Given the description of an element on the screen output the (x, y) to click on. 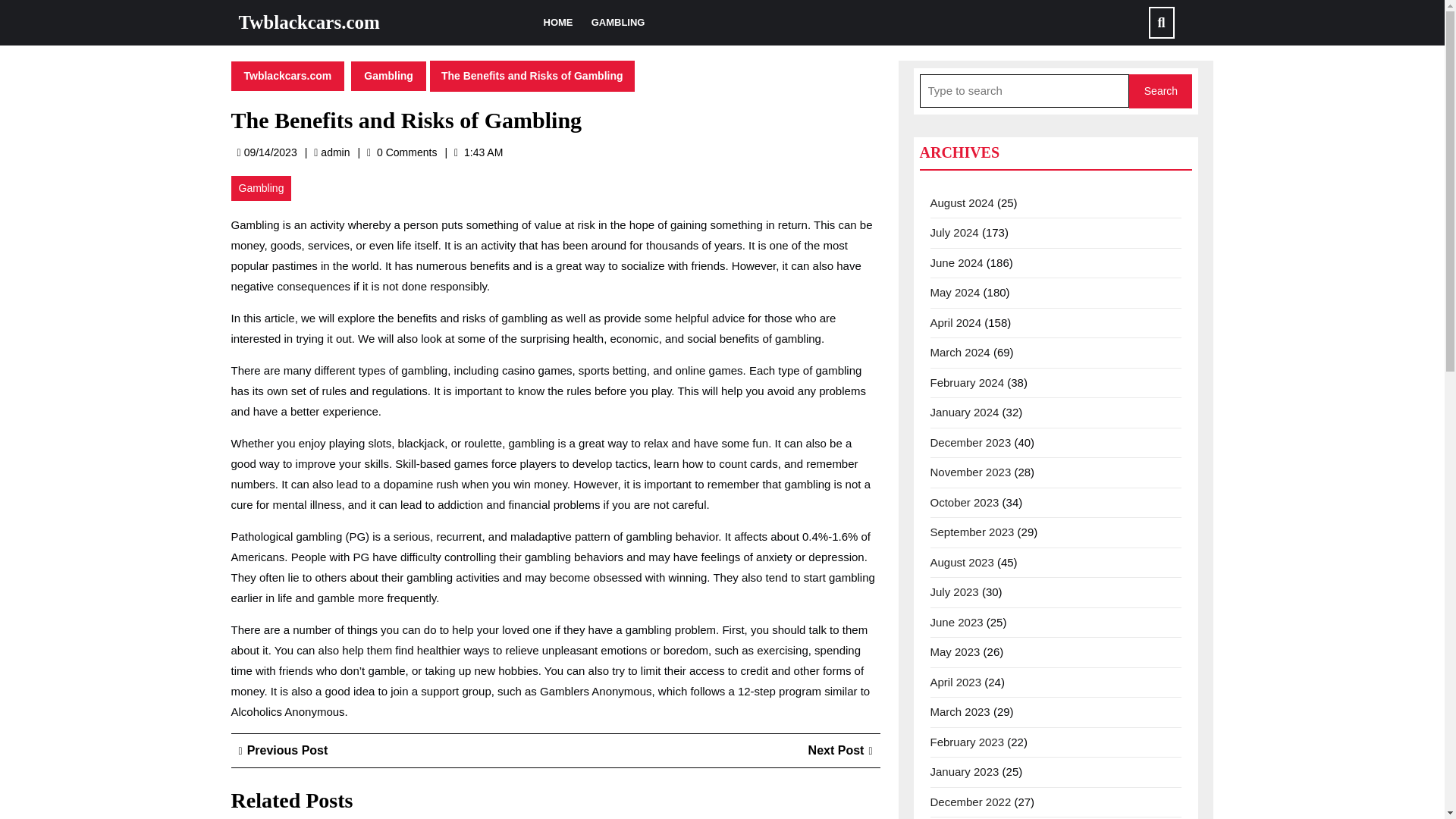
October 2023 (334, 151)
September 2023 (964, 502)
Search (840, 748)
August 2024 (971, 531)
June 2023 (1160, 91)
March 2023 (961, 201)
May 2023 (956, 621)
July 2023 (960, 711)
May 2024 (954, 651)
Twblackcars.com (954, 591)
November 2023 (954, 291)
Search (286, 75)
Search (970, 472)
